Given the description of an element on the screen output the (x, y) to click on. 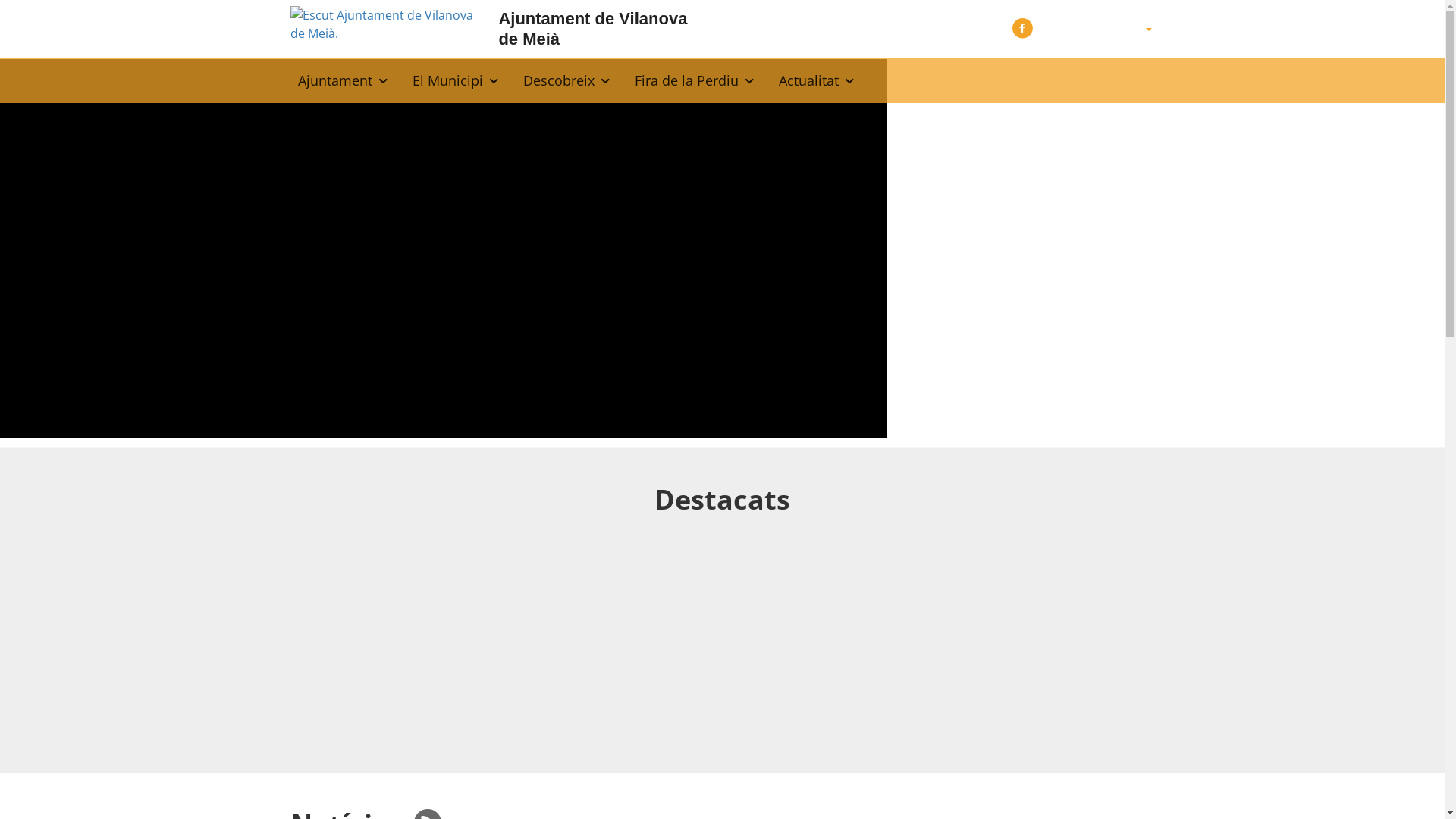
El Municipi Element type: text (456, 80)
AL CONTINGUT Element type: text (25, 16)
Descobreix Element type: text (567, 80)
Actualitat Element type: text (816, 80)
Fira de la Perdiu Element type: text (694, 80)
https://www.facebook.com/AjuntamentVilanovadeMeia Element type: text (1021, 26)
Cerca Element type: text (1140, 71)
languages Element type: hover (1148, 29)
Ajuntament Element type: text (342, 80)
